Given the description of an element on the screen output the (x, y) to click on. 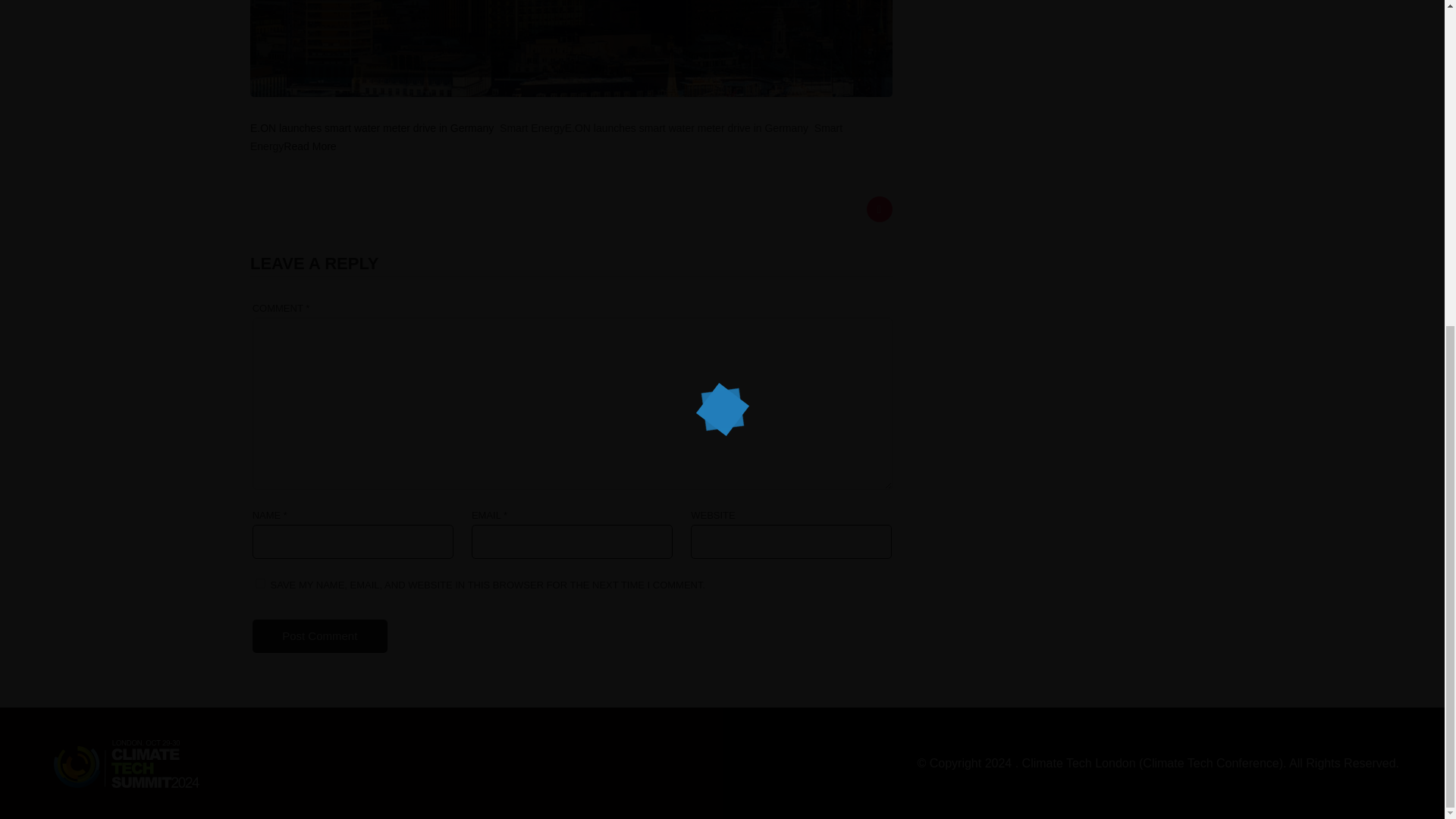
Post Comment (319, 636)
E.ON launches smart water meter drive in Germany (371, 128)
yes (260, 583)
Post Comment (319, 636)
Read More (310, 146)
